Given the description of an element on the screen output the (x, y) to click on. 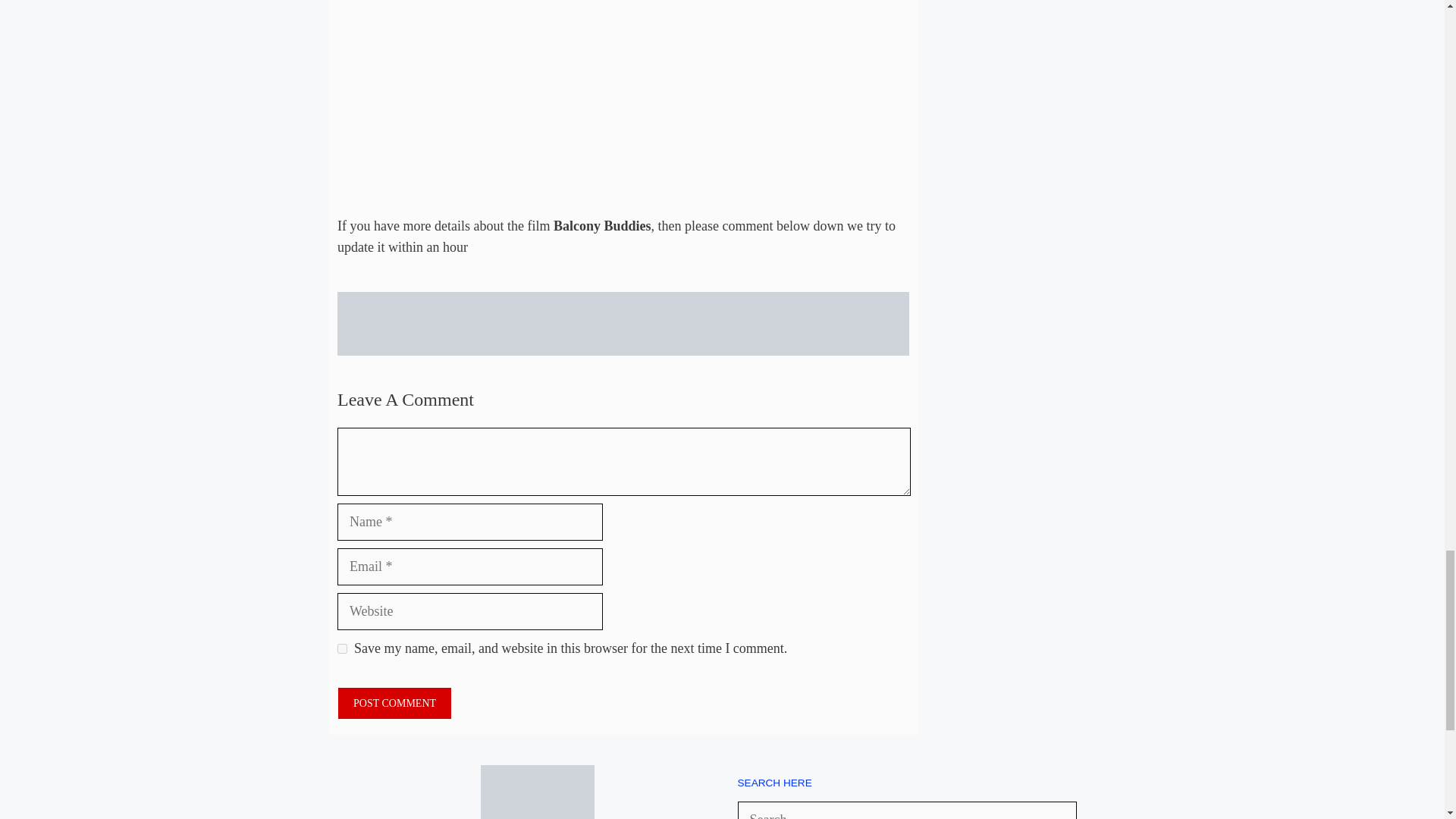
yes (342, 648)
Search for: (906, 810)
Post Comment (394, 703)
Post Comment (394, 703)
